Given the description of an element on the screen output the (x, y) to click on. 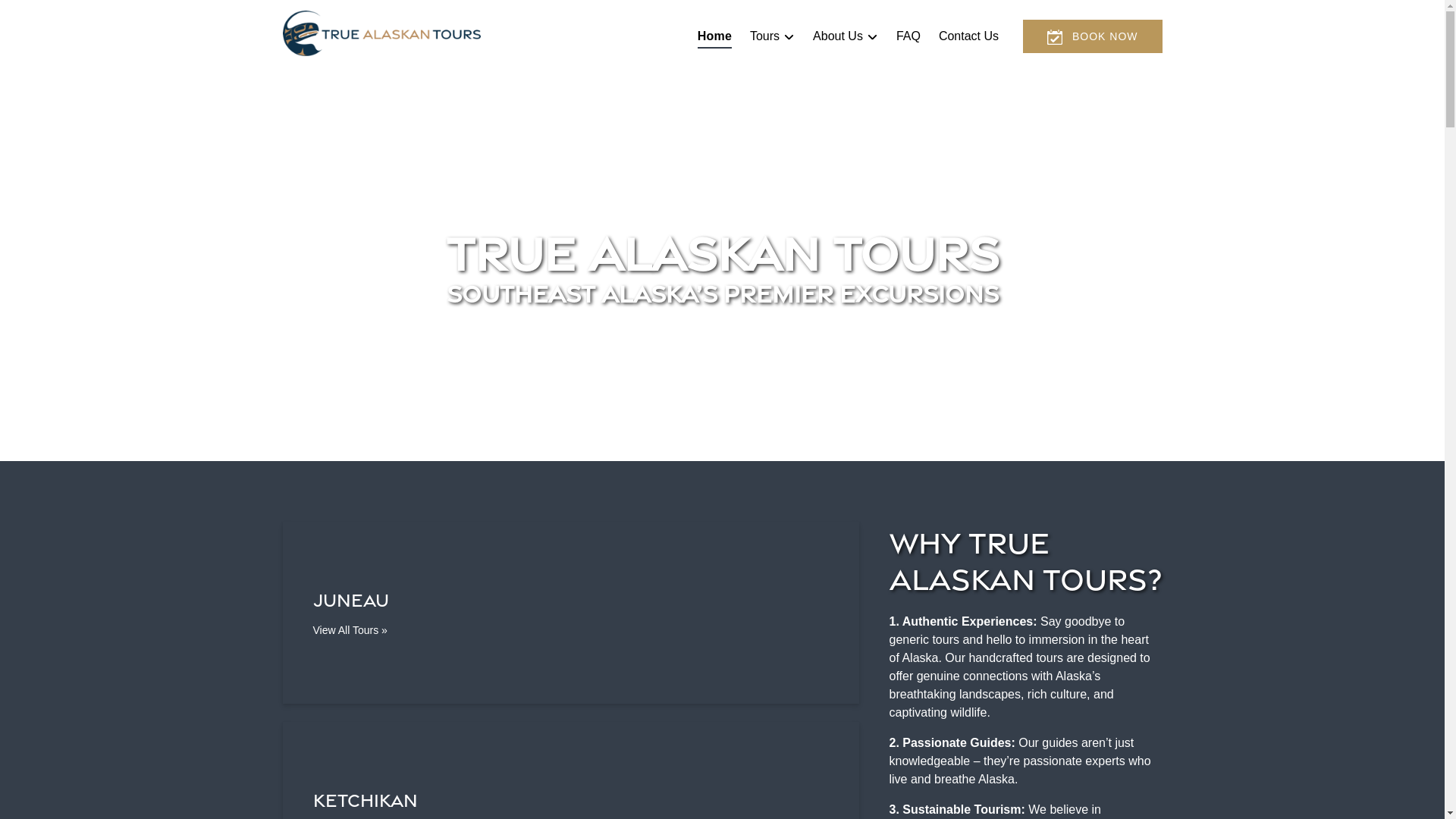
CHECK CALENDAR (1054, 37)
Open About Us Menu (848, 32)
Skip to footer (42, 16)
Open Tours Menu (775, 32)
About Us (844, 35)
Tours (772, 35)
Home (714, 35)
Skip to content (47, 16)
Skip to primary navigation (77, 16)
FAQ (908, 35)
